Given the description of an element on the screen output the (x, y) to click on. 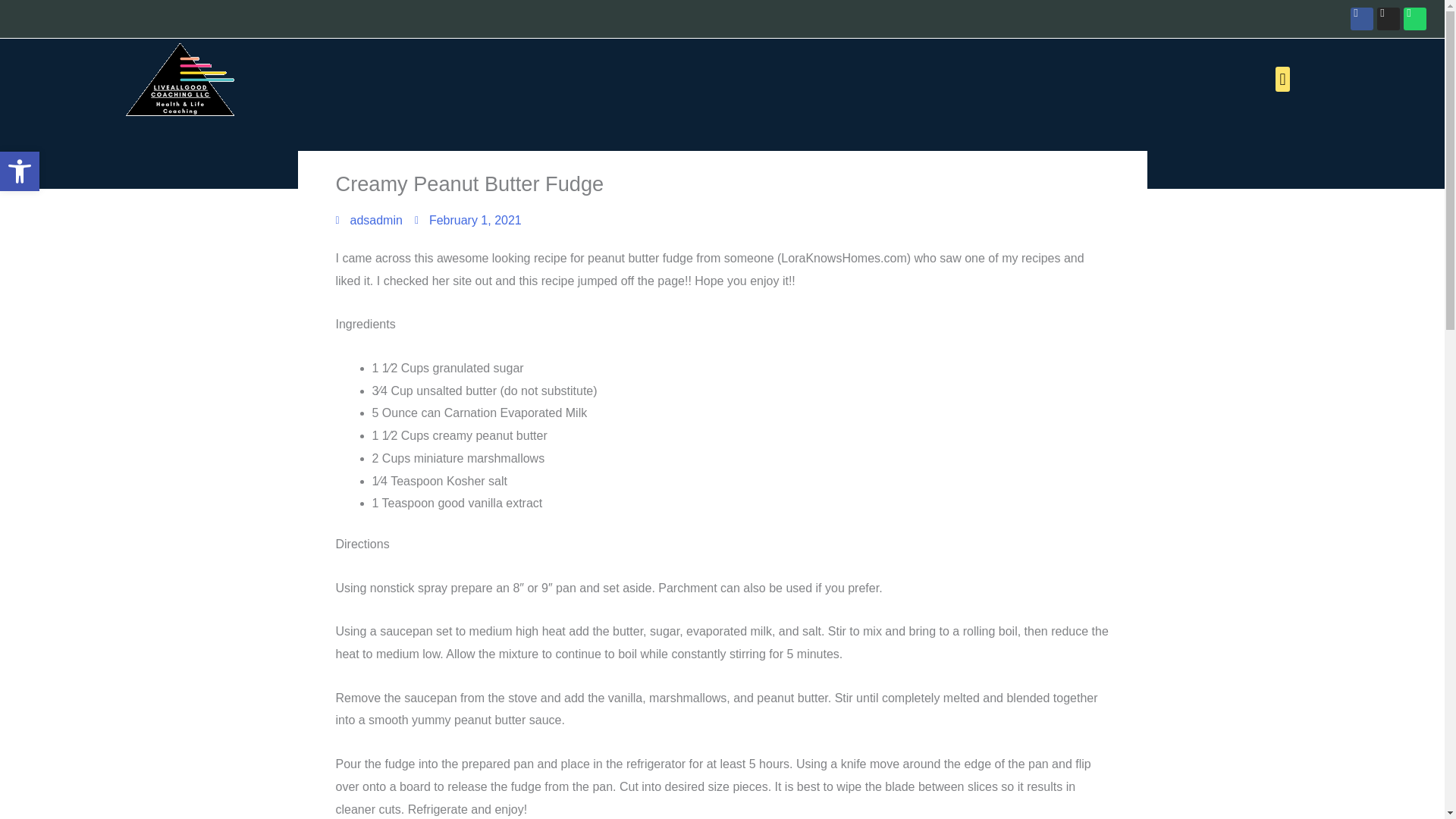
logo-150 (180, 79)
February 1, 2021 (19, 170)
Accessibility Tools (467, 220)
adsadmin (19, 170)
Accessibility Tools (367, 220)
